Given the description of an element on the screen output the (x, y) to click on. 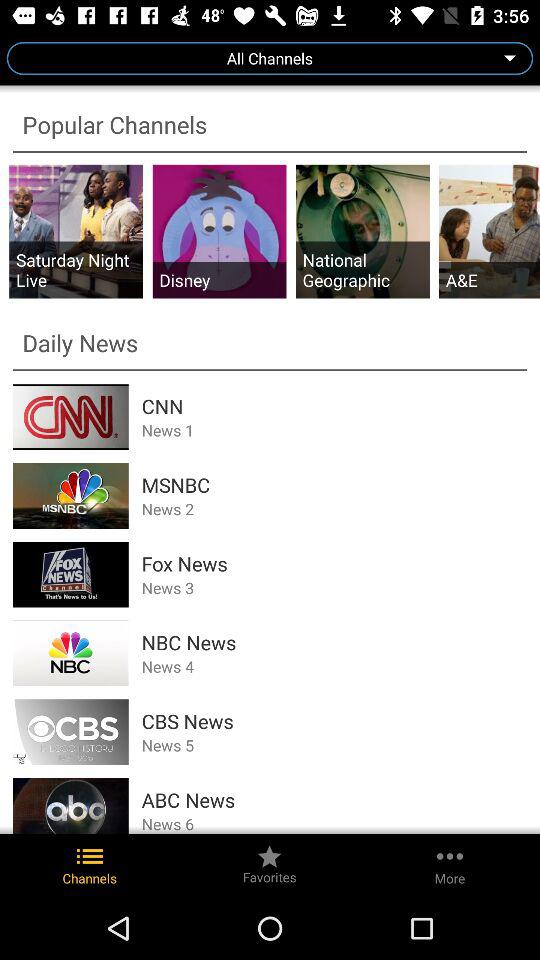
launch item above the news 6 item (333, 799)
